Given the description of an element on the screen output the (x, y) to click on. 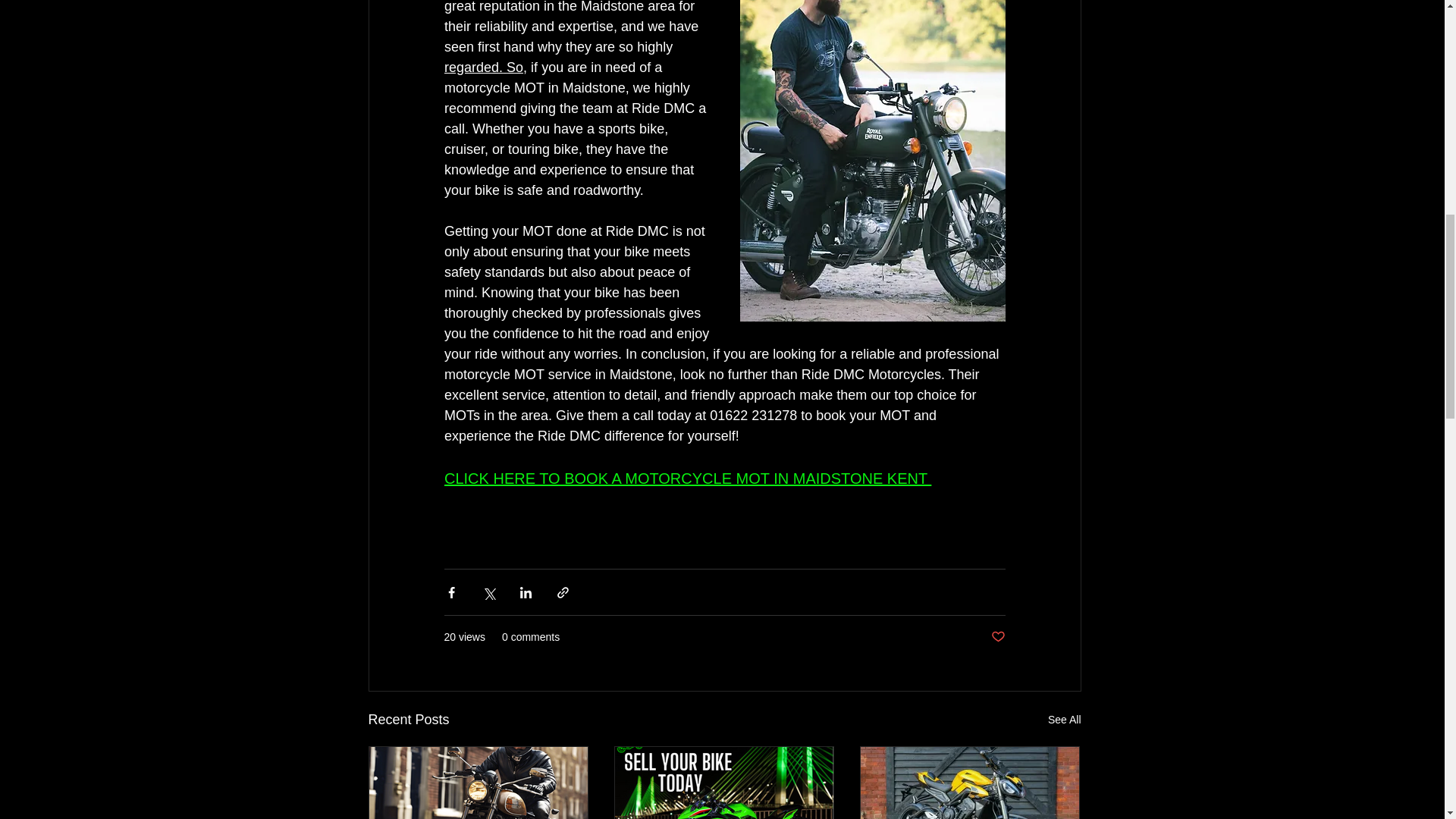
So (514, 67)
See All (1064, 720)
CLICK HERE TO BOOK A MOTORCYCLE MOT IN MAIDSTONE KENT  (687, 478)
 In (629, 353)
Post not marked as liked (997, 637)
